Given the description of an element on the screen output the (x, y) to click on. 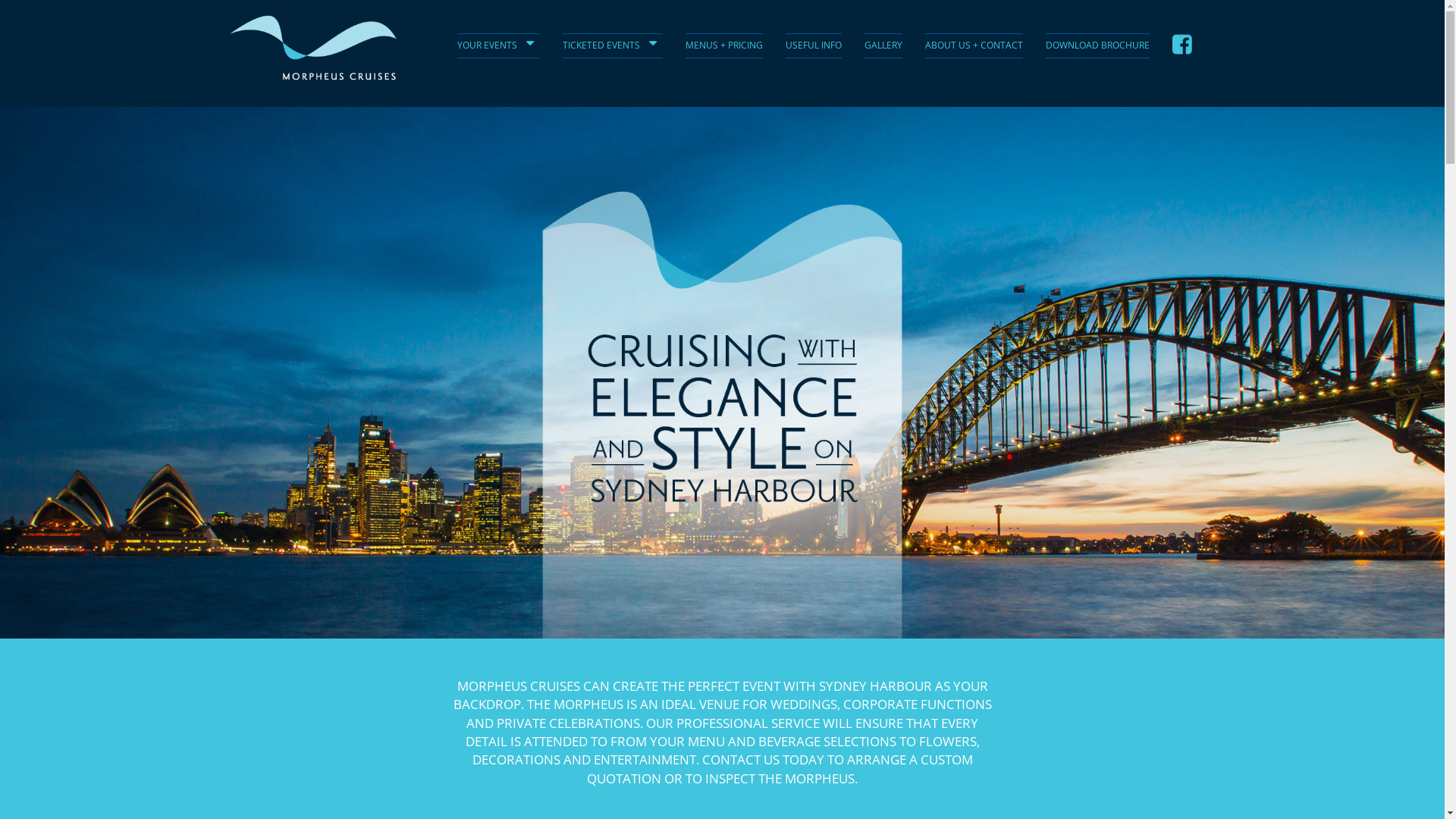
MENUS + PRICING Element type: text (723, 45)
Morpheus Cruises Element type: hover (312, 47)
GALLERY Element type: text (883, 45)
DOWNLOAD BROCHURE Element type: text (1096, 45)
TICKETED EVENTS Element type: text (601, 45)
USEFUL INFO Element type: text (813, 45)
YOUR EVENTS Element type: text (486, 45)
ABOUT US + CONTACT Element type: text (973, 45)
